Given the description of an element on the screen output the (x, y) to click on. 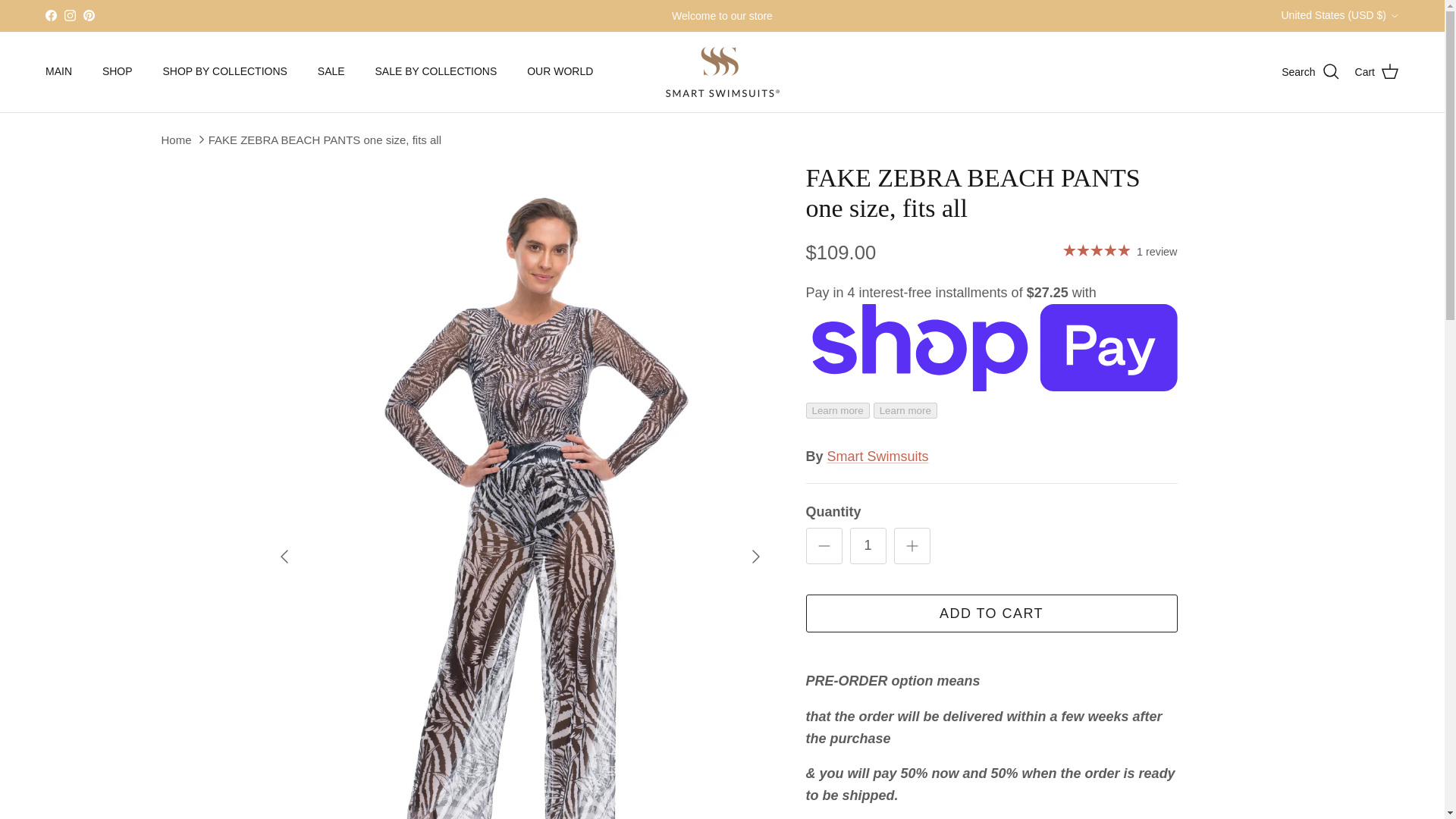
Smart Swimsuits on Pinterest (88, 15)
OUR WORLD (560, 71)
SHOP BY COLLECTIONS (223, 71)
Smart Swimsuits on Instagram (69, 15)
Facebook (50, 15)
Cart (1377, 71)
Smart Swimsuits on Facebook (50, 15)
SALE (331, 71)
SALE BY COLLECTIONS (436, 71)
1 (866, 545)
Instagram (69, 15)
MAIN (58, 71)
Pinterest (88, 15)
Smart Swimsuits (721, 71)
Search (1310, 71)
